Given the description of an element on the screen output the (x, y) to click on. 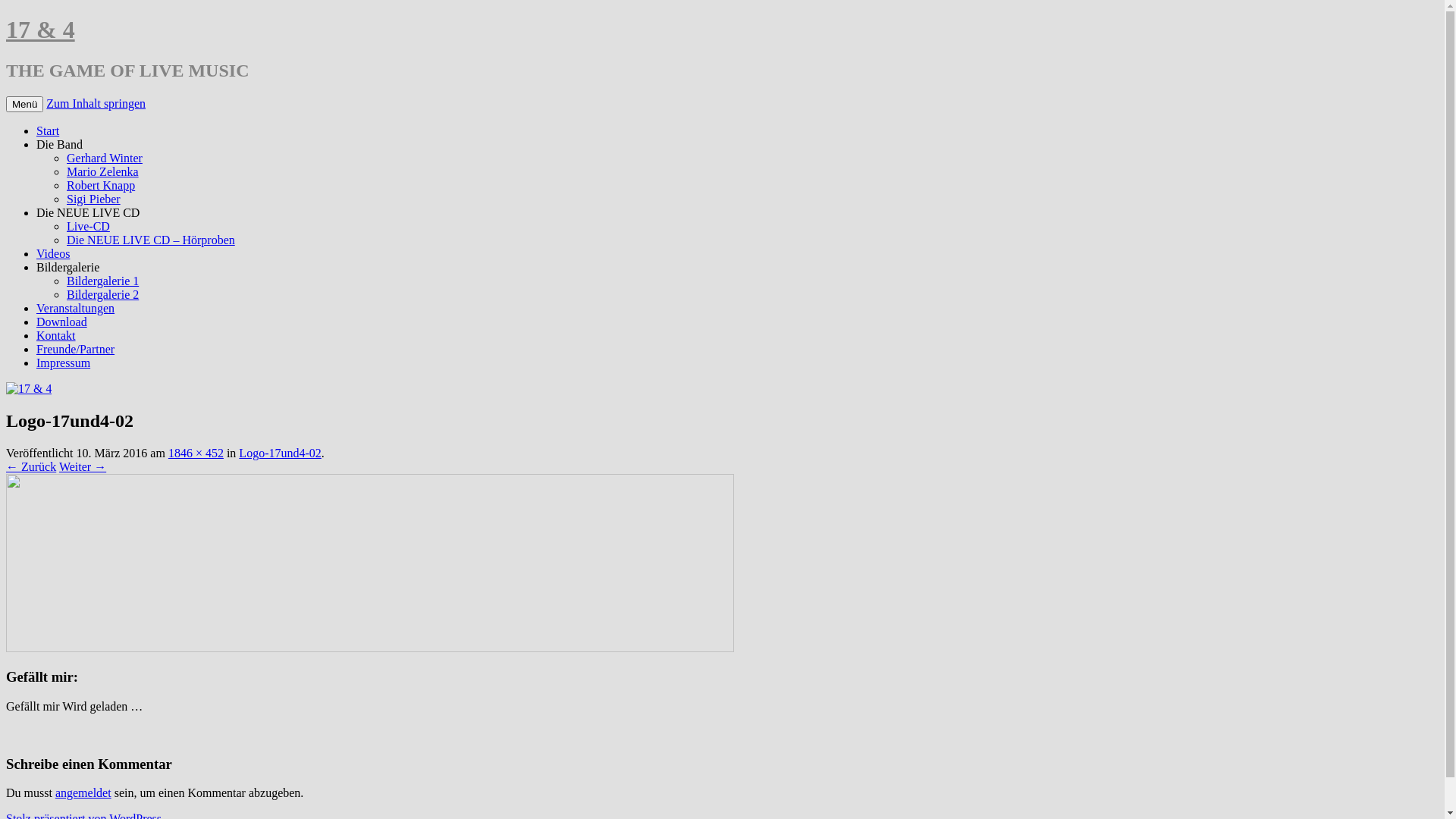
Kontakt Element type: text (55, 335)
Die Band Element type: text (59, 144)
Robert Knapp Element type: text (100, 184)
Videos Element type: text (52, 253)
Bildergalerie 2 Element type: text (102, 294)
Impressum Element type: text (63, 362)
Start Element type: text (47, 130)
Sigi Pieber Element type: text (93, 198)
Veranstaltungen Element type: text (75, 307)
Die NEUE LIVE CD Element type: text (87, 212)
17 & 4 Element type: text (40, 29)
Zum Inhalt springen Element type: text (95, 103)
Logo-17und4-02 Element type: text (279, 452)
Live-CD Element type: text (87, 225)
Freunde/Partner Element type: text (75, 348)
Download Element type: text (61, 321)
Bildergalerie Element type: text (67, 266)
Logo-17und4-02 Element type: hover (370, 647)
Mario Zelenka Element type: text (102, 171)
Gerhard Winter Element type: text (104, 157)
angemeldet Element type: text (83, 792)
Bildergalerie 1 Element type: text (102, 280)
